Given the description of an element on the screen output the (x, y) to click on. 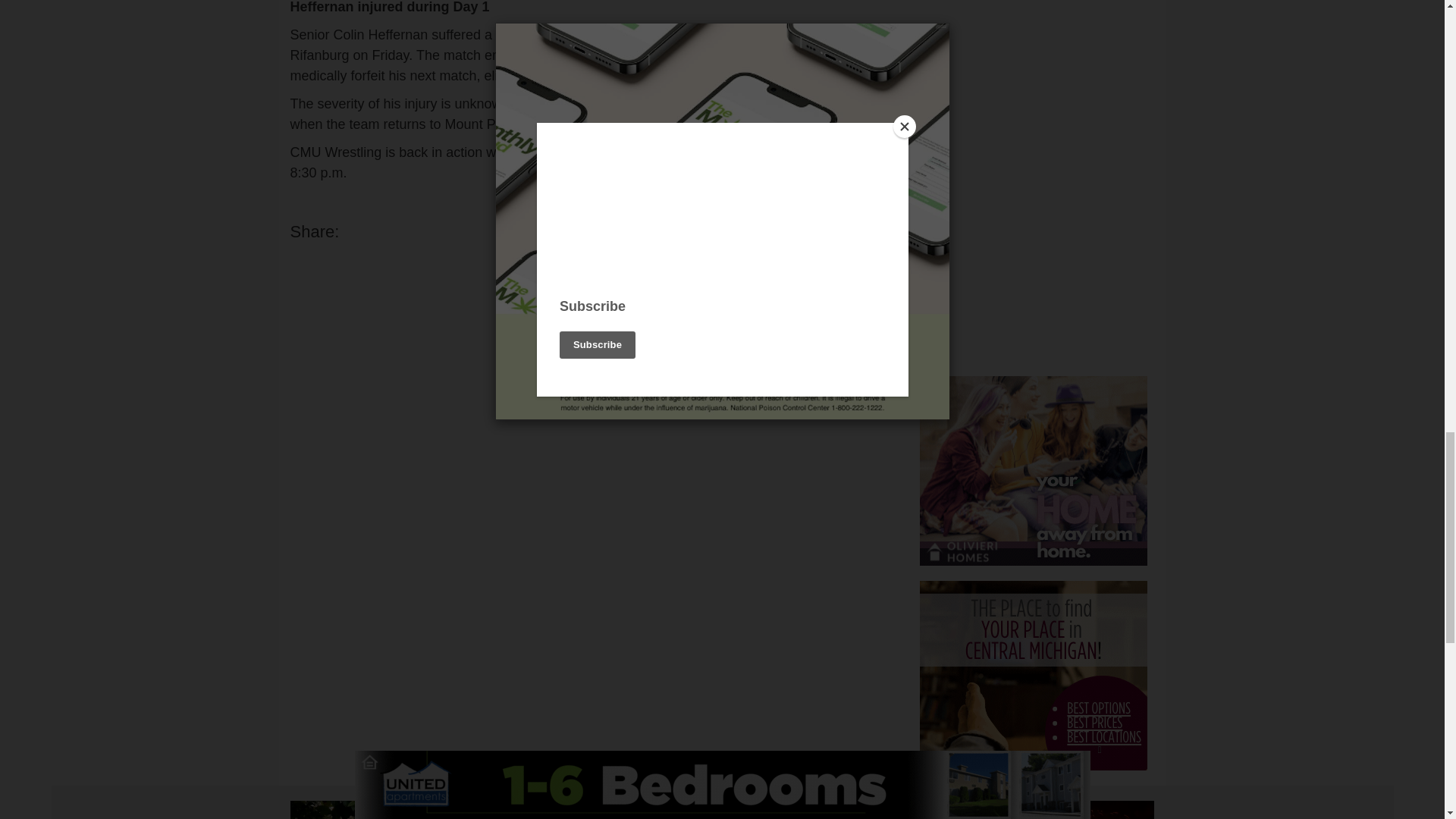
OM-HOUSING.COM (1032, 470)
